Given the description of an element on the screen output the (x, y) to click on. 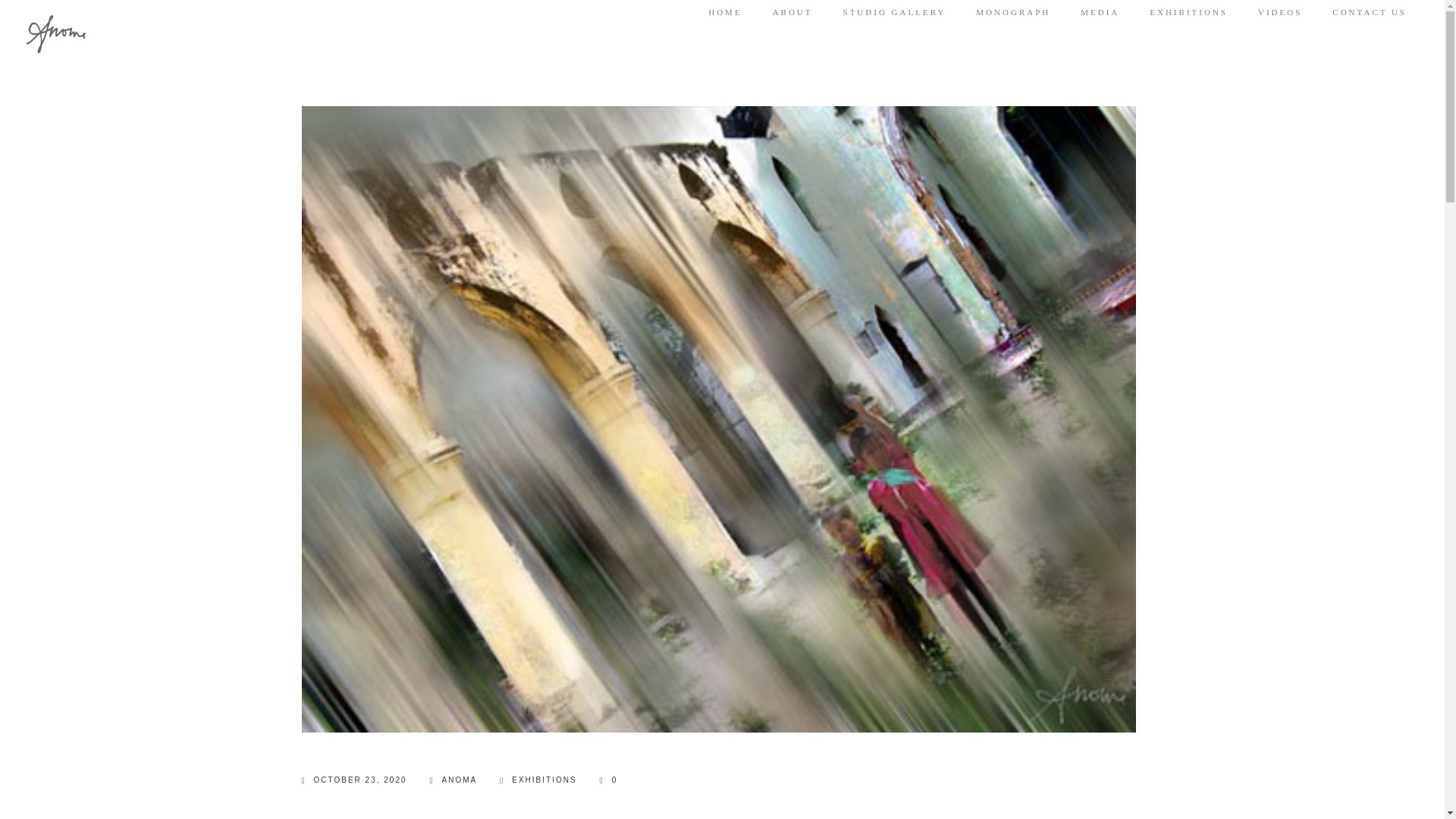
ANOMA (453, 780)
HOME (724, 12)
CONTACT US (1369, 12)
STUDIO GALLERY (894, 12)
EXHIBITIONS (1188, 12)
0 (608, 780)
VIDEOS (1279, 12)
ABOUT (792, 12)
MONOGRAPH (1012, 12)
